Given the description of an element on the screen output the (x, y) to click on. 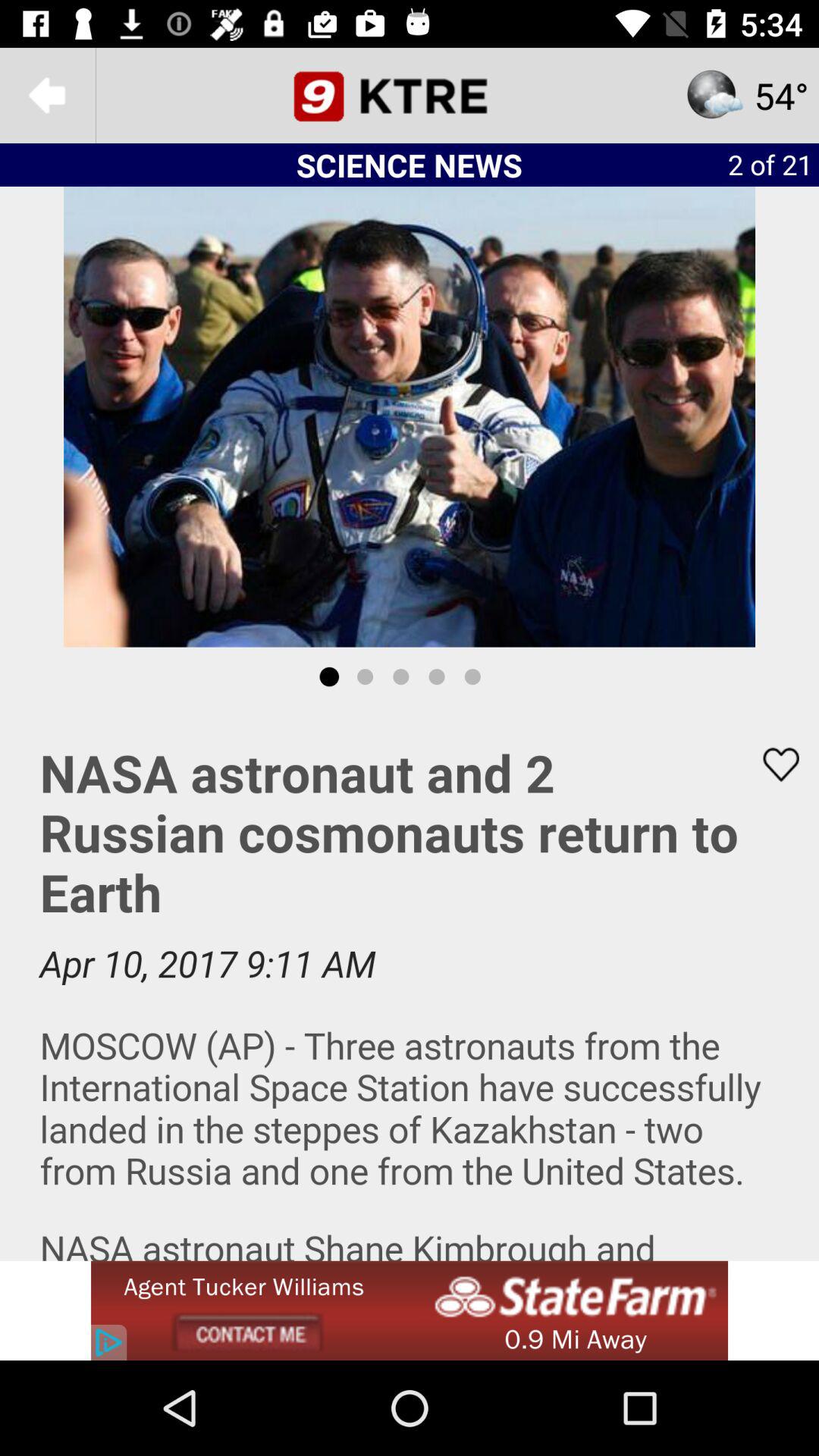
like button (771, 764)
